Given the description of an element on the screen output the (x, y) to click on. 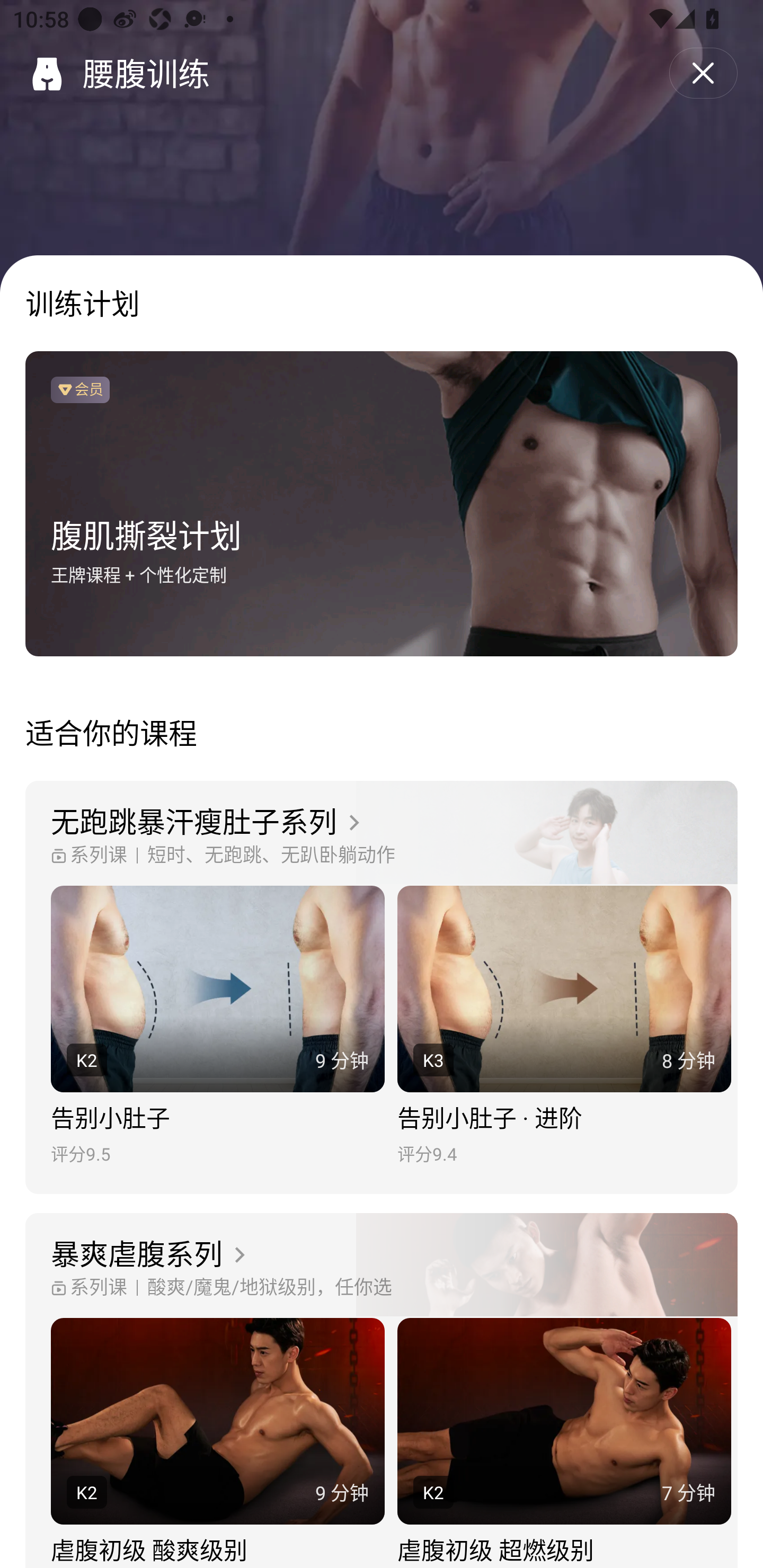
会员 腹肌撕裂计划 王牌课程 + 个性化定制 (381, 503)
无跑跳暴汗瘦肚子系列 系列课 短时、无跑跳、无趴卧躺动作 (381, 832)
K2 9 分钟 告别小肚子 评分9.5 (217, 1025)
K3 8 分钟 告别小肚子 · 进阶 评分9.4 (563, 1025)
暴爽虐腹系列 系列课 酸爽/魔鬼/地狱级别，任你选 (381, 1265)
K2 9 分钟 虐腹初级 酸爽级别 (217, 1443)
K2 7 分钟 虐腹初级 超燃级别 (563, 1443)
